Given the description of an element on the screen output the (x, y) to click on. 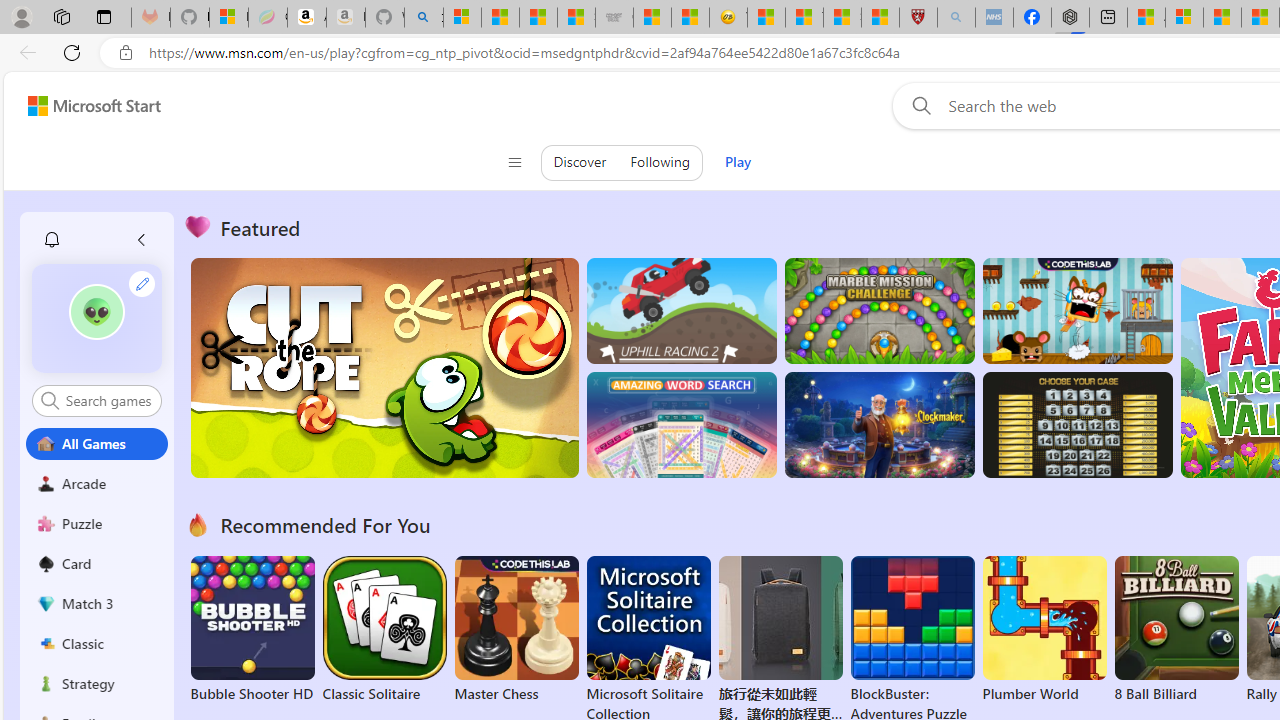
Squicky (1076, 310)
Amazing Word Search (681, 425)
AutomationID: control (108, 400)
